Given the description of an element on the screen output the (x, y) to click on. 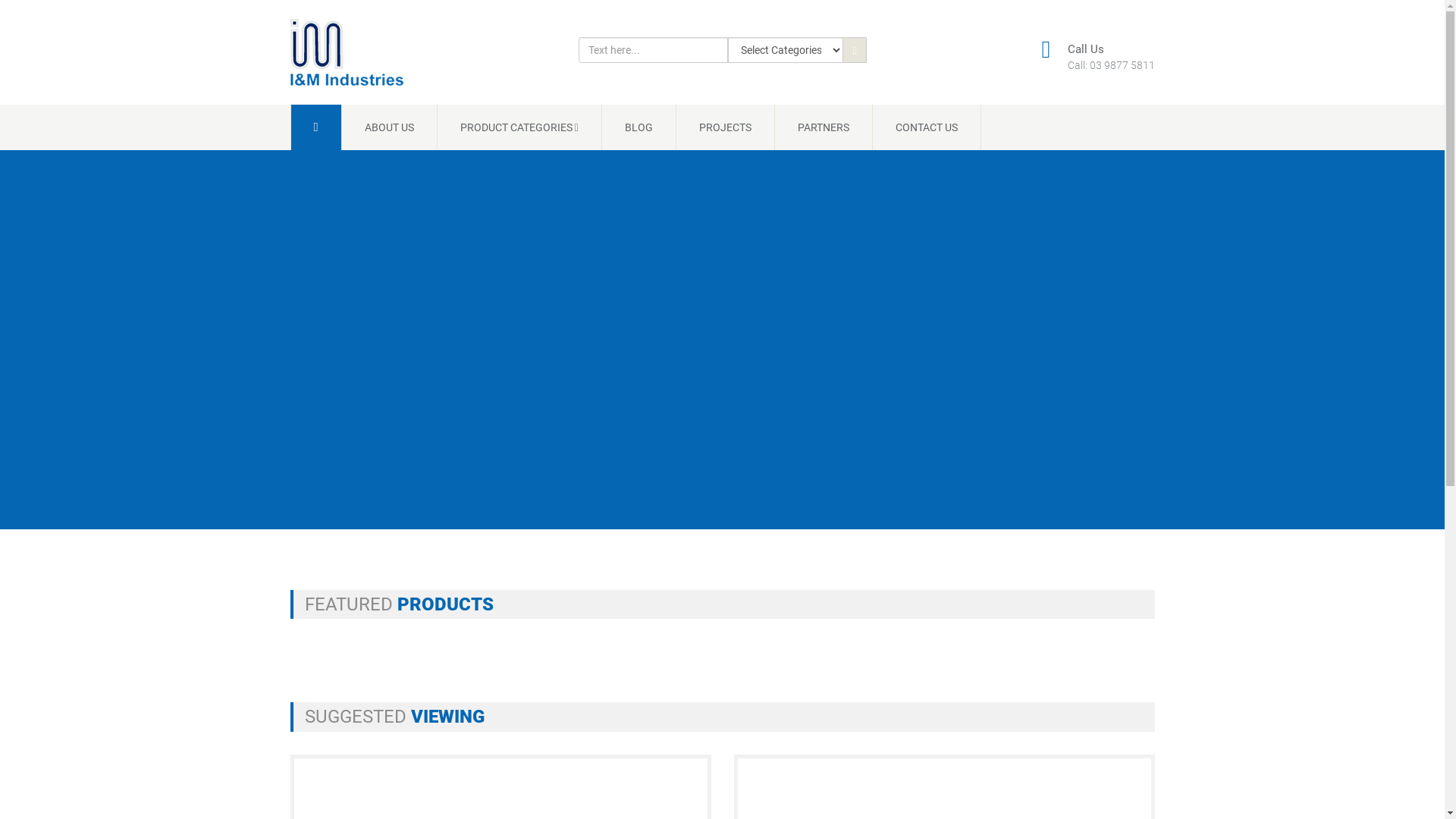
PARTNERS Element type: text (823, 127)
BLOG Element type: text (639, 127)
PRODUCT CATEGORIES Element type: text (519, 127)
PROJECTS Element type: text (725, 127)
CONTACT US Element type: text (926, 127)
ABOUT US Element type: text (389, 127)
